Given the description of an element on the screen output the (x, y) to click on. 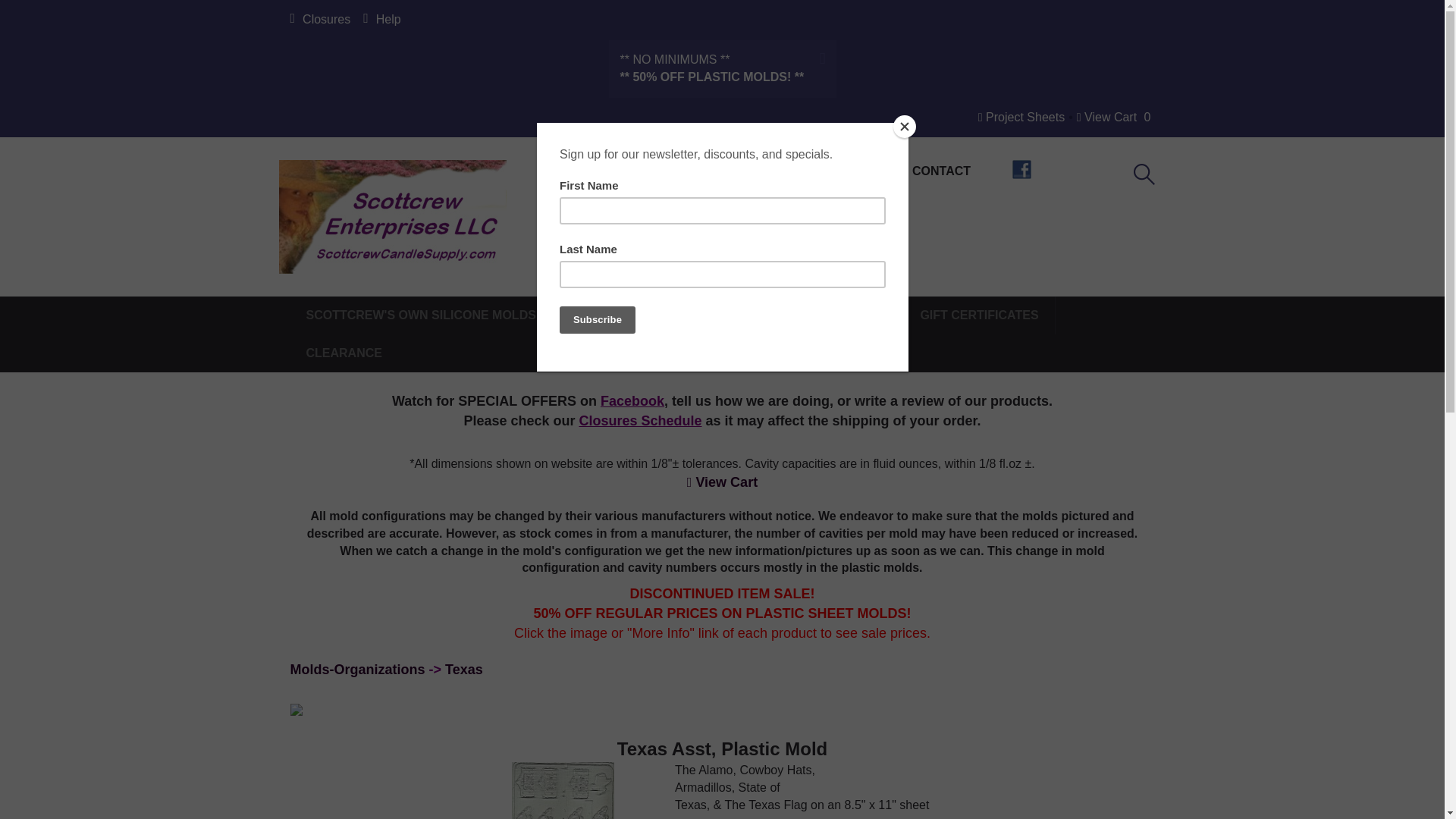
SCOTTCREW'S OWN SILICONE MOLDS (429, 315)
Project Sheets (1021, 116)
CUSTOMER SERVICE (700, 170)
CONTACT (941, 170)
View Cart (1107, 116)
ABOUT (837, 170)
